Given the description of an element on the screen output the (x, y) to click on. 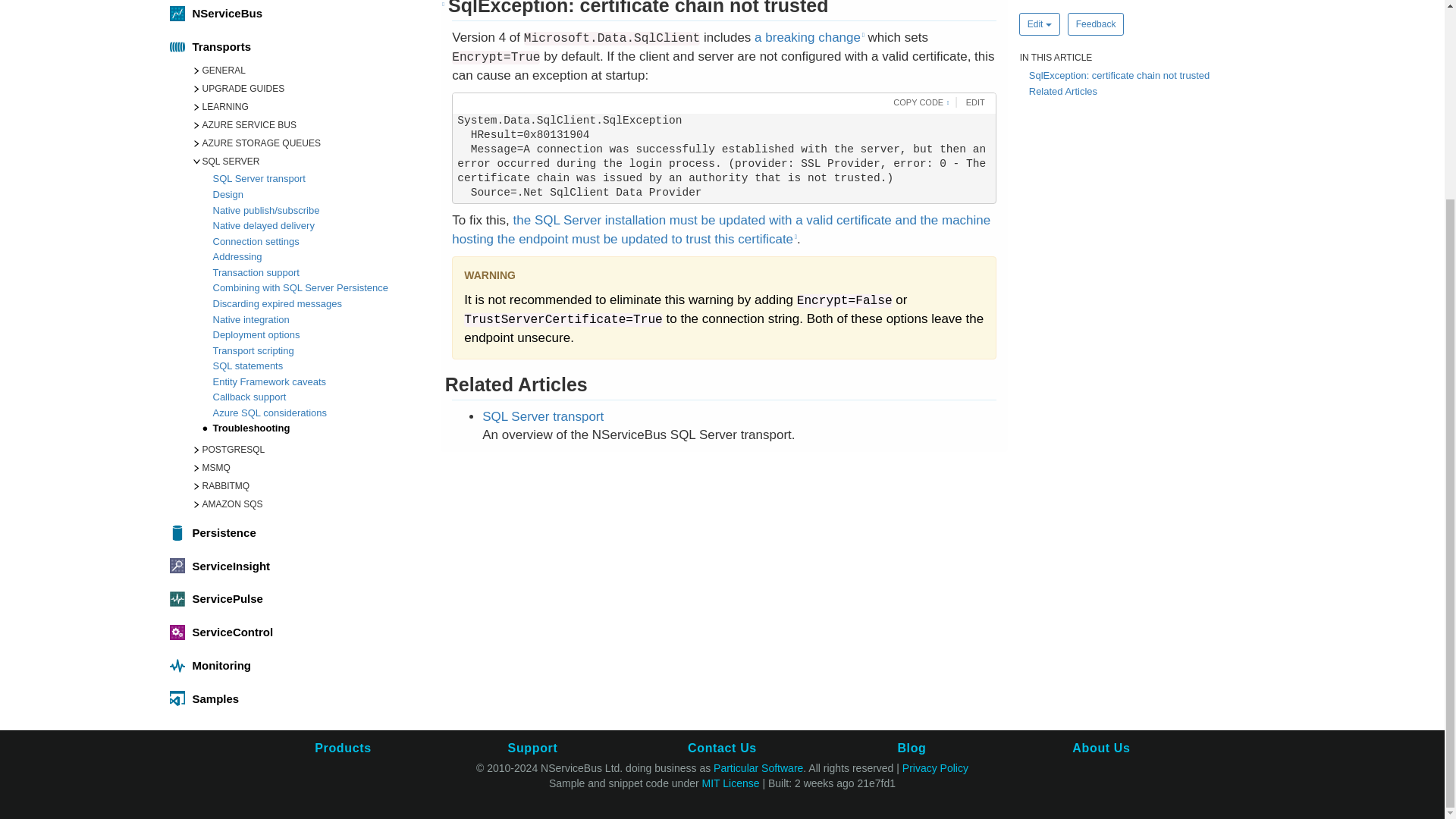
Edit online via the GitHub web UI (973, 101)
SQL statements (319, 367)
SQL Server transport (319, 179)
Transaction support (319, 273)
Callback support (319, 398)
Combining with SQL Server Persistence (319, 289)
Deployment options (319, 335)
Transport scripting (319, 351)
Discarding expired messages (319, 304)
Troubleshooting (319, 429)
Entity Framework caveats (319, 383)
Copy snippet to the clipboard (917, 101)
Design (319, 195)
Azure SQL considerations (319, 414)
Native delayed delivery (319, 227)
